Given the description of an element on the screen output the (x, y) to click on. 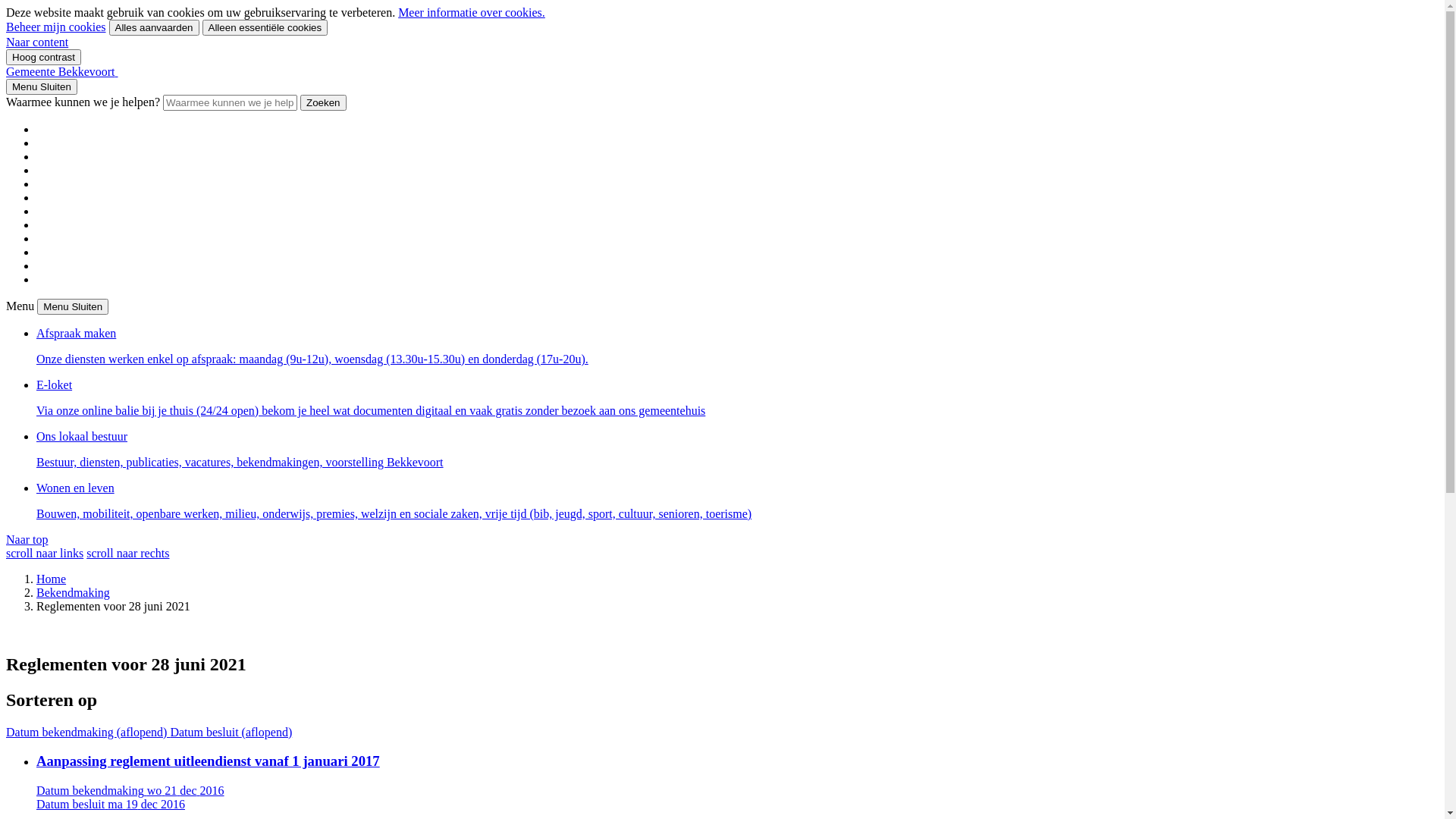
scroll naar links Element type: text (44, 552)
Alles aanvaarden Element type: text (154, 27)
Menu Sluiten Element type: text (72, 306)
Gemeente Bekkevoort Element type: text (62, 71)
Hoog contrast Element type: text (43, 57)
Beheer mijn cookies Element type: text (56, 26)
Naar content Element type: text (37, 41)
Datum besluit (aflopend) Element type: text (230, 731)
Bekendmaking Element type: text (72, 592)
Naar top Element type: text (27, 539)
Home Element type: text (50, 578)
Menu Sluiten Element type: text (41, 86)
Zoeken Element type: text (322, 102)
Meer informatie over cookies. Element type: text (471, 12)
Datum bekendmaking (aflopend) Element type: text (87, 731)
scroll naar rechts Element type: text (127, 552)
